Given the description of an element on the screen output the (x, y) to click on. 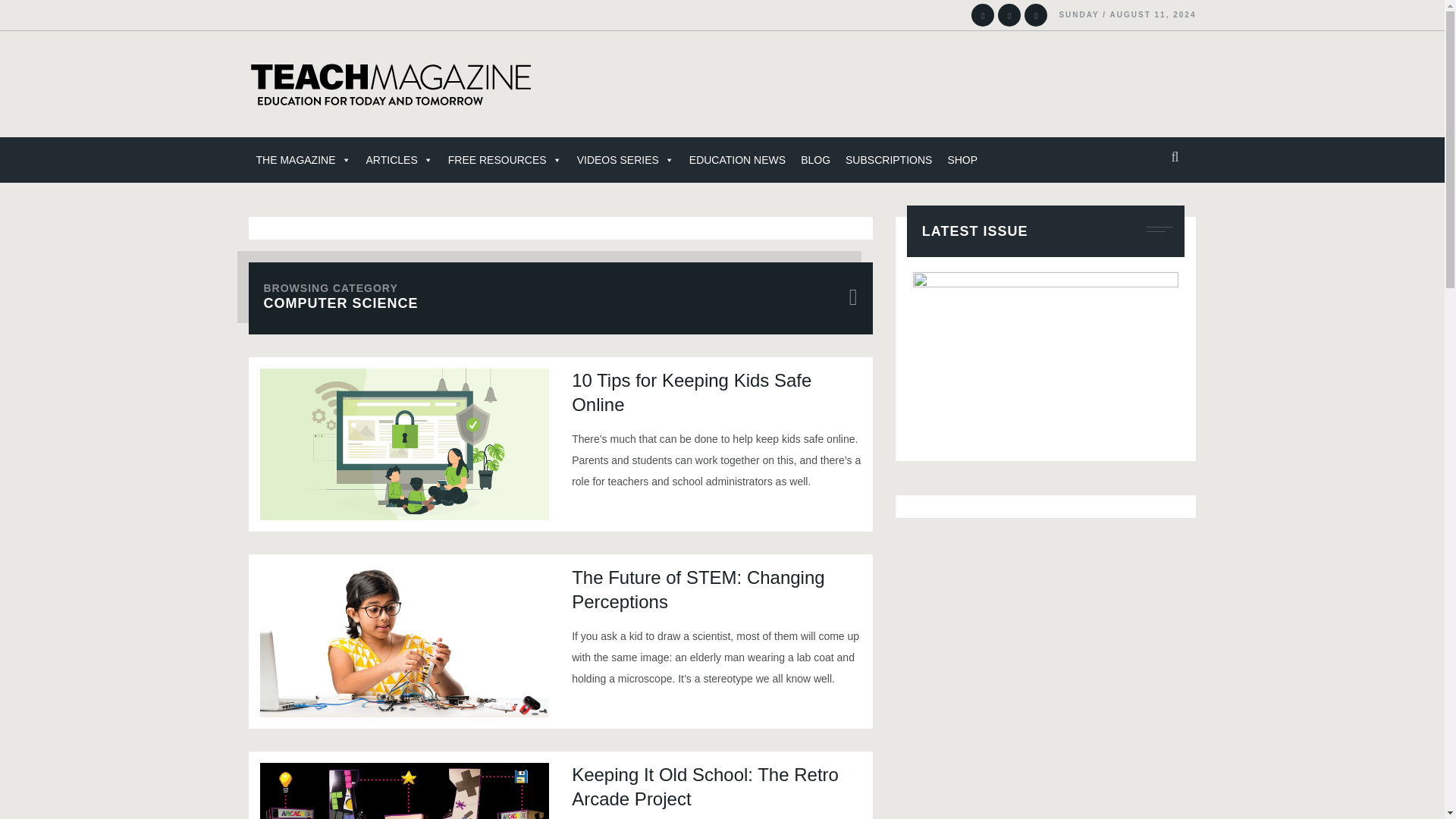
Permalink to Keeping It Old School: The Retro Arcade Project (403, 790)
Twitter (1008, 15)
Permalink to 10 Tips for Keeping Kids Safe Online (403, 444)
THE MAGAZINE (303, 159)
ARTICLES (399, 159)
Facebook (1035, 15)
Instagram (982, 15)
Permalink to The Future of STEM: Changing Perceptions (403, 641)
